Given the description of an element on the screen output the (x, y) to click on. 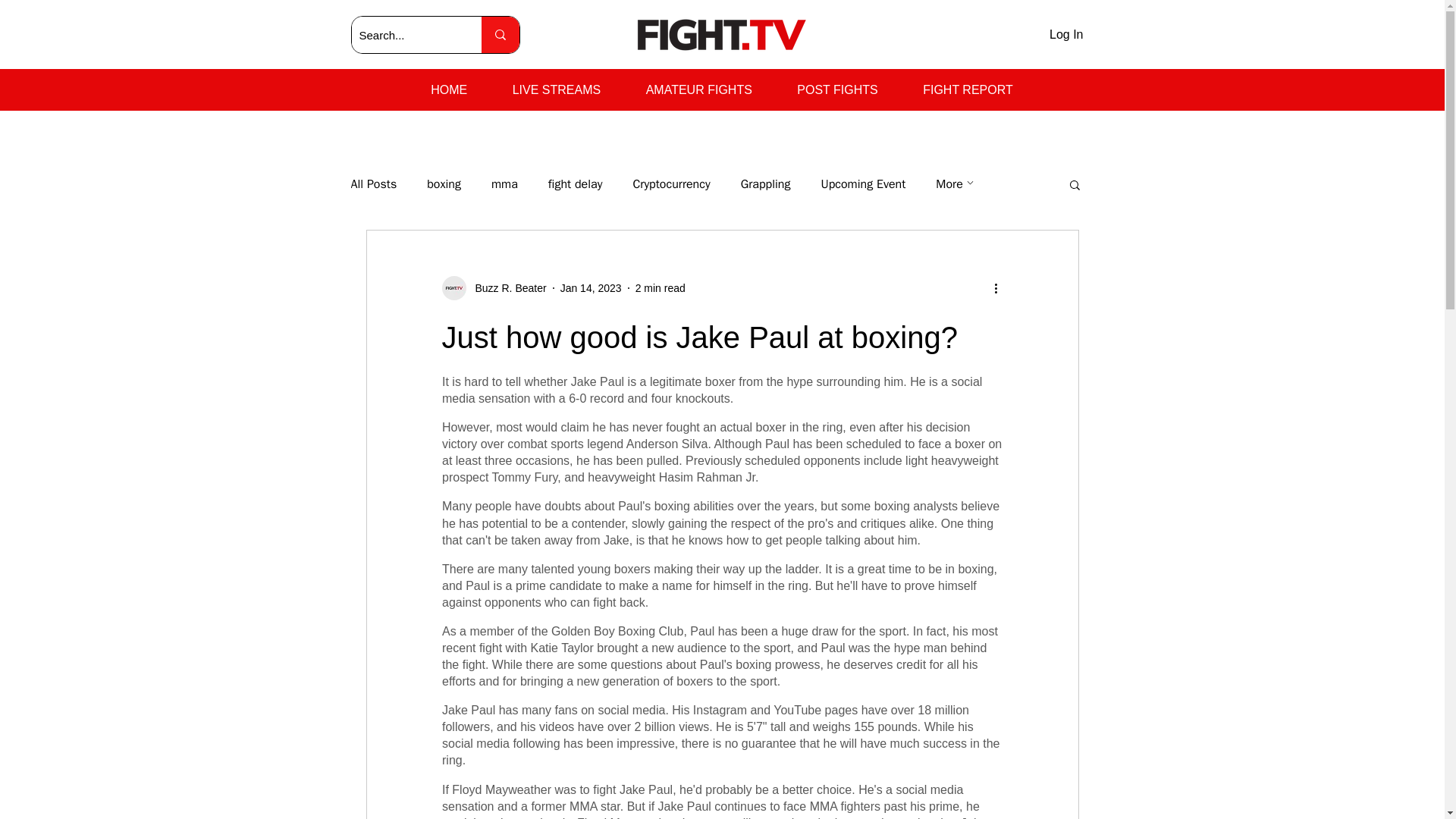
Log In (1066, 34)
Grappling (765, 183)
Buzz R. Beater (493, 288)
Upcoming Event (863, 183)
fight delay (575, 183)
AMATEUR FIGHTS (698, 90)
boxing (443, 183)
Buzz R. Beater (505, 288)
HOME (448, 90)
mma (505, 183)
FIGHT REPORT (967, 90)
2 min read (659, 287)
Cryptocurrency (670, 183)
Jan 14, 2023 (590, 287)
POST FIGHTS (837, 90)
